Given the description of an element on the screen output the (x, y) to click on. 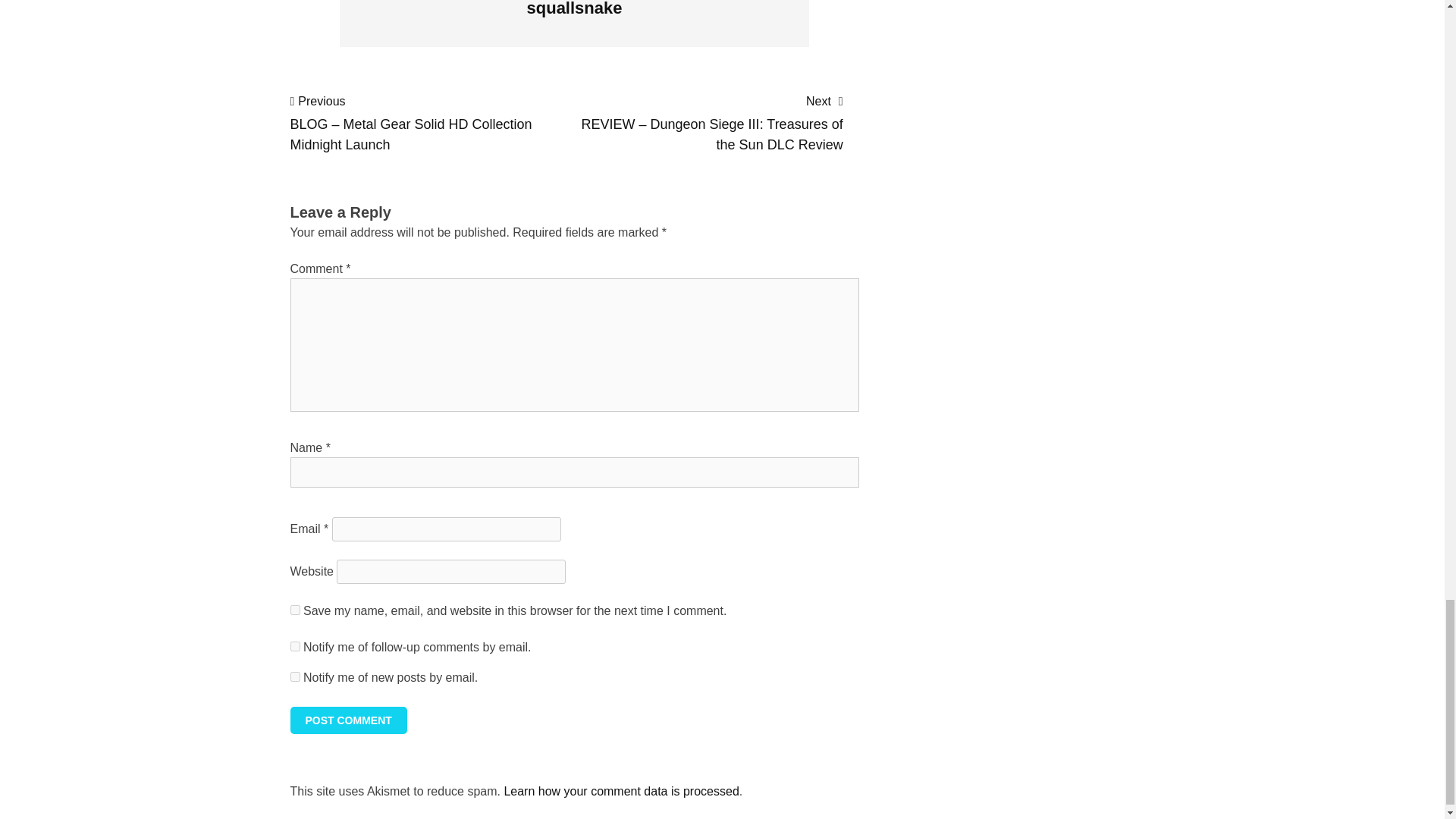
subscribe (294, 646)
subscribe (294, 676)
Post Comment (347, 719)
yes (294, 610)
